Given the description of an element on the screen output the (x, y) to click on. 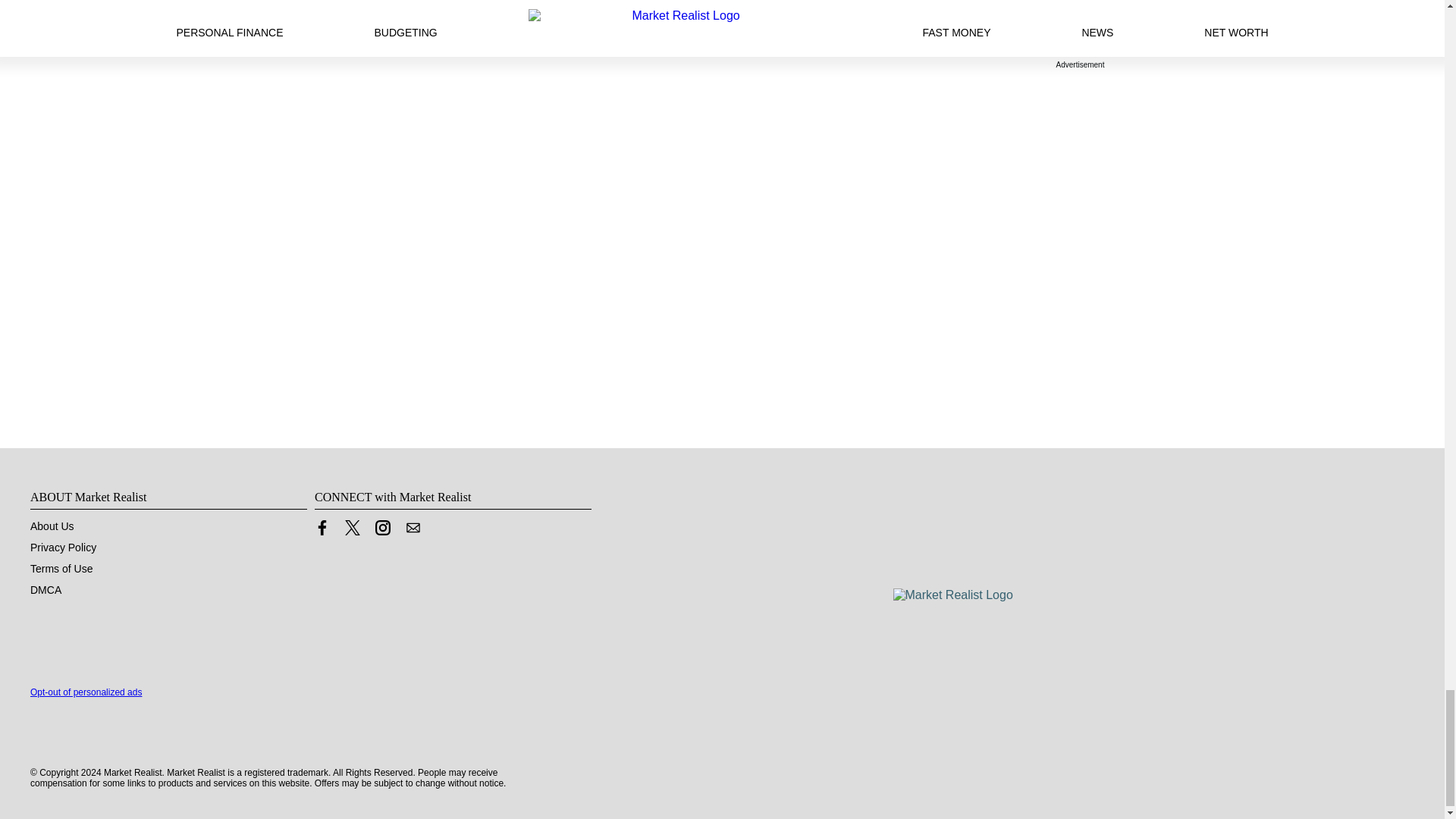
Contact us by Email (413, 527)
Link to Instagram (382, 531)
About Us (52, 526)
Privacy Policy (63, 547)
DMCA (45, 589)
Opt-out of personalized ads (85, 692)
Terms of Use (61, 568)
Link to X (352, 531)
About Us (52, 526)
Privacy Policy (63, 547)
Link to Instagram (382, 527)
Link to Facebook (322, 531)
DMCA (45, 589)
Contact us by Email (413, 531)
Link to Facebook (322, 527)
